Given the description of an element on the screen output the (x, y) to click on. 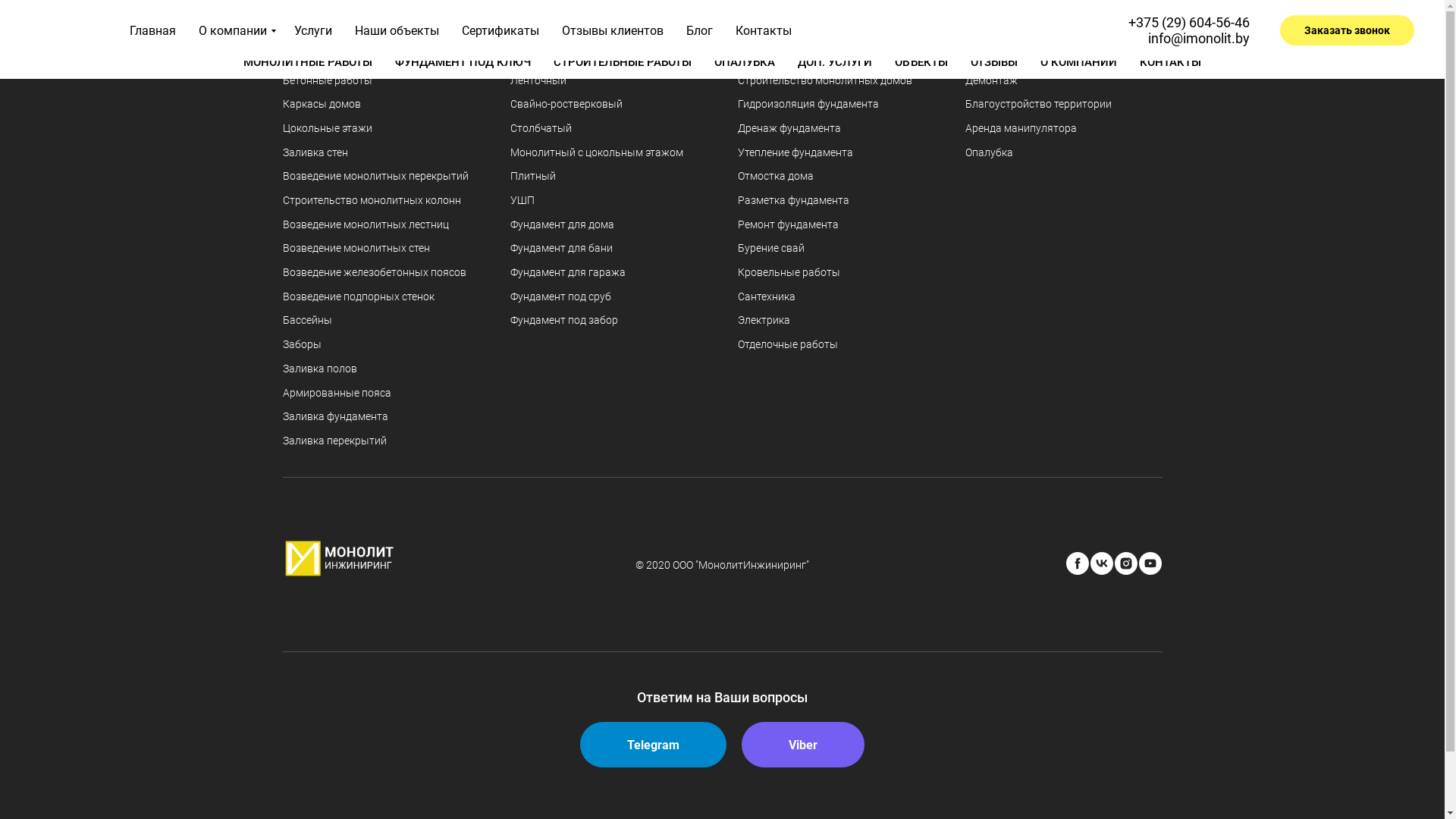
info@imonolit.by Element type: text (1203, 30)
Telegram Element type: text (653, 744)
+375 (29) 604-56-46 Element type: text (1188, 22)
Viber Element type: text (802, 744)
Company Element type: text (79, 29)
+375 (29) 604-56-46 Element type: text (1188, 15)
